Given the description of an element on the screen output the (x, y) to click on. 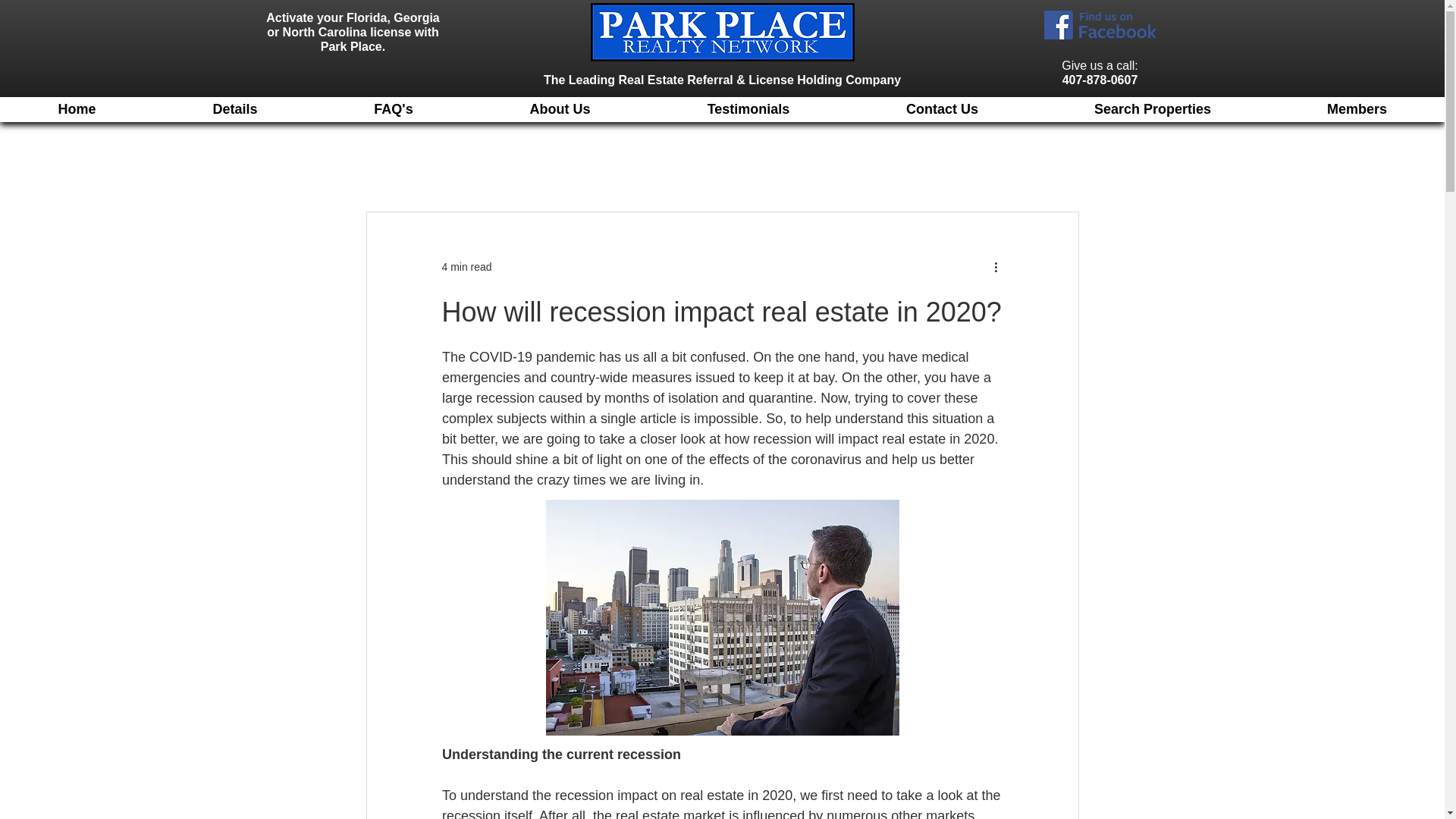
Contact Us (941, 109)
Testimonials (747, 109)
About Us (558, 109)
Search Properties (1151, 109)
Details (234, 109)
FAQ's (392, 109)
Home (77, 109)
4 min read (466, 266)
